Given the description of an element on the screen output the (x, y) to click on. 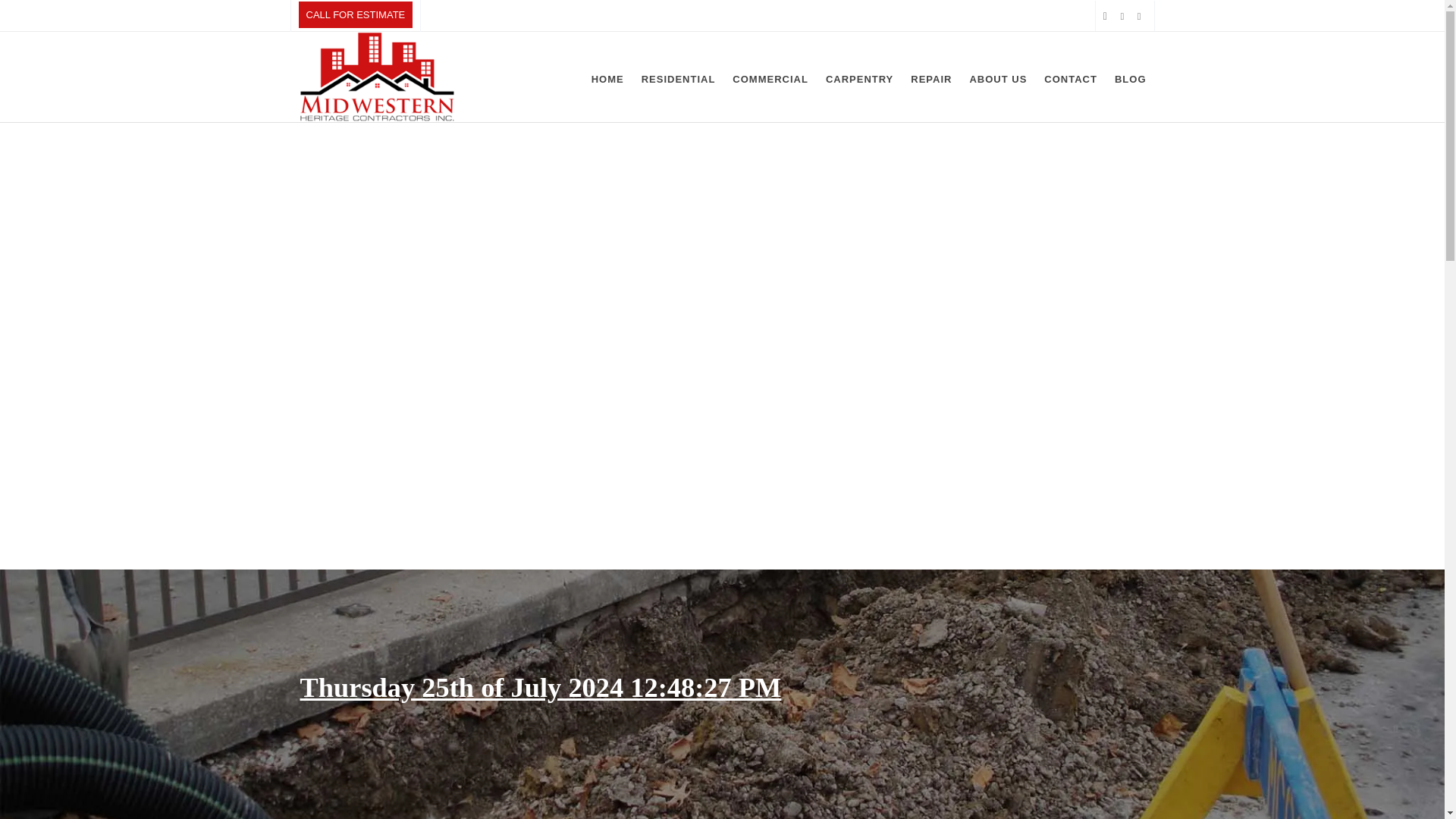
CALL FOR ESTIMATE (355, 14)
COMMERCIAL (769, 76)
CARPENTRY (858, 76)
CALL FOR ESTIMATE (355, 15)
RESIDENTIAL (678, 76)
